Given the description of an element on the screen output the (x, y) to click on. 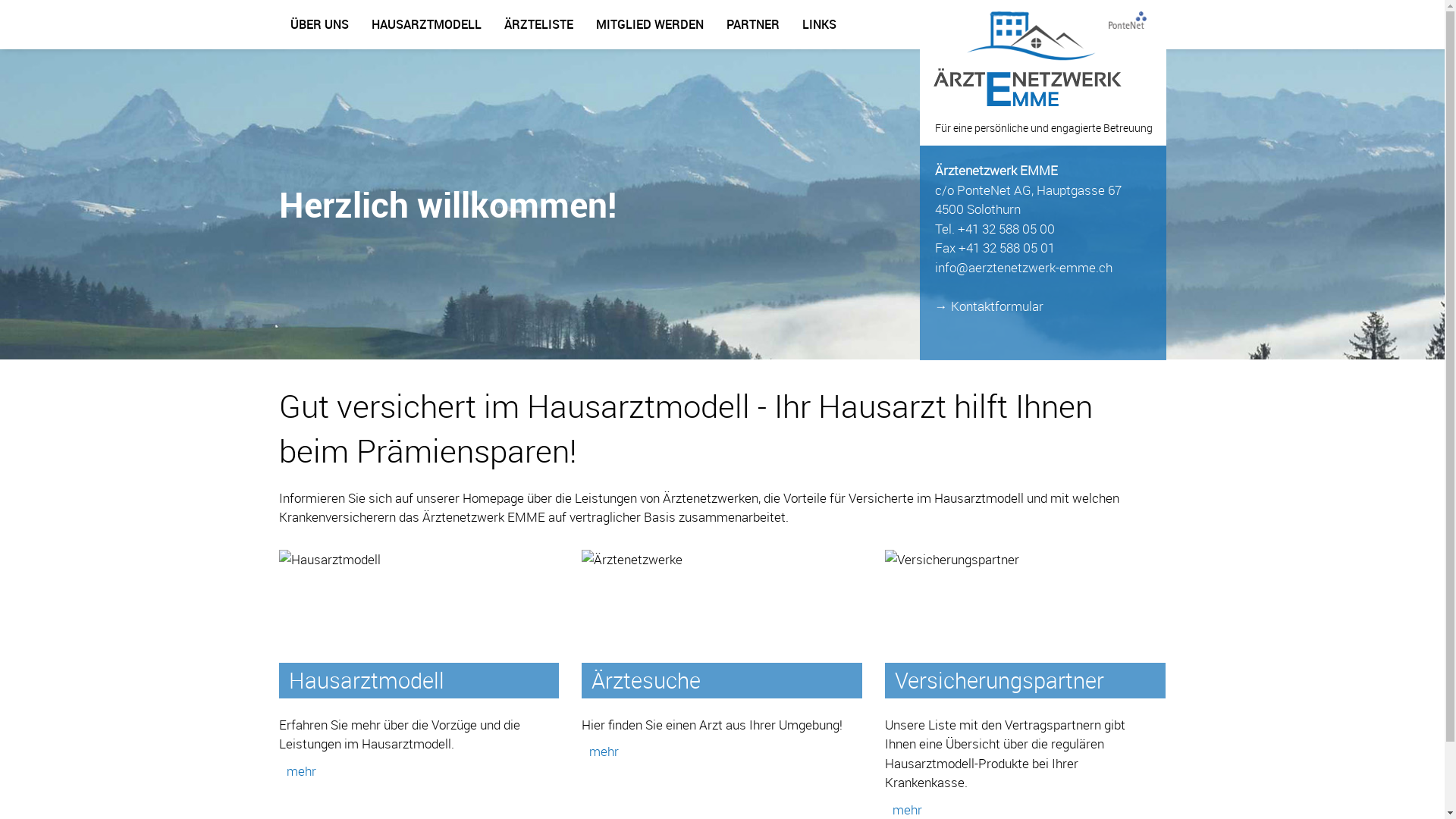
mehr Element type: text (903, 809)
HAUSARZTMODELL Element type: text (425, 24)
mehr Element type: text (297, 770)
info@aerztenetzwerk-emme.ch Element type: text (1022, 267)
Hausarztmodell Element type: text (365, 679)
PARTNER Element type: text (752, 24)
Versicherungspartner Element type: text (999, 679)
Kontaktformular Element type: text (996, 305)
MITGLIED WERDEN Element type: text (648, 24)
mehr Element type: text (599, 750)
+41 32 588 05 00 Element type: text (1005, 228)
LINKS Element type: text (818, 24)
